Given the description of an element on the screen output the (x, y) to click on. 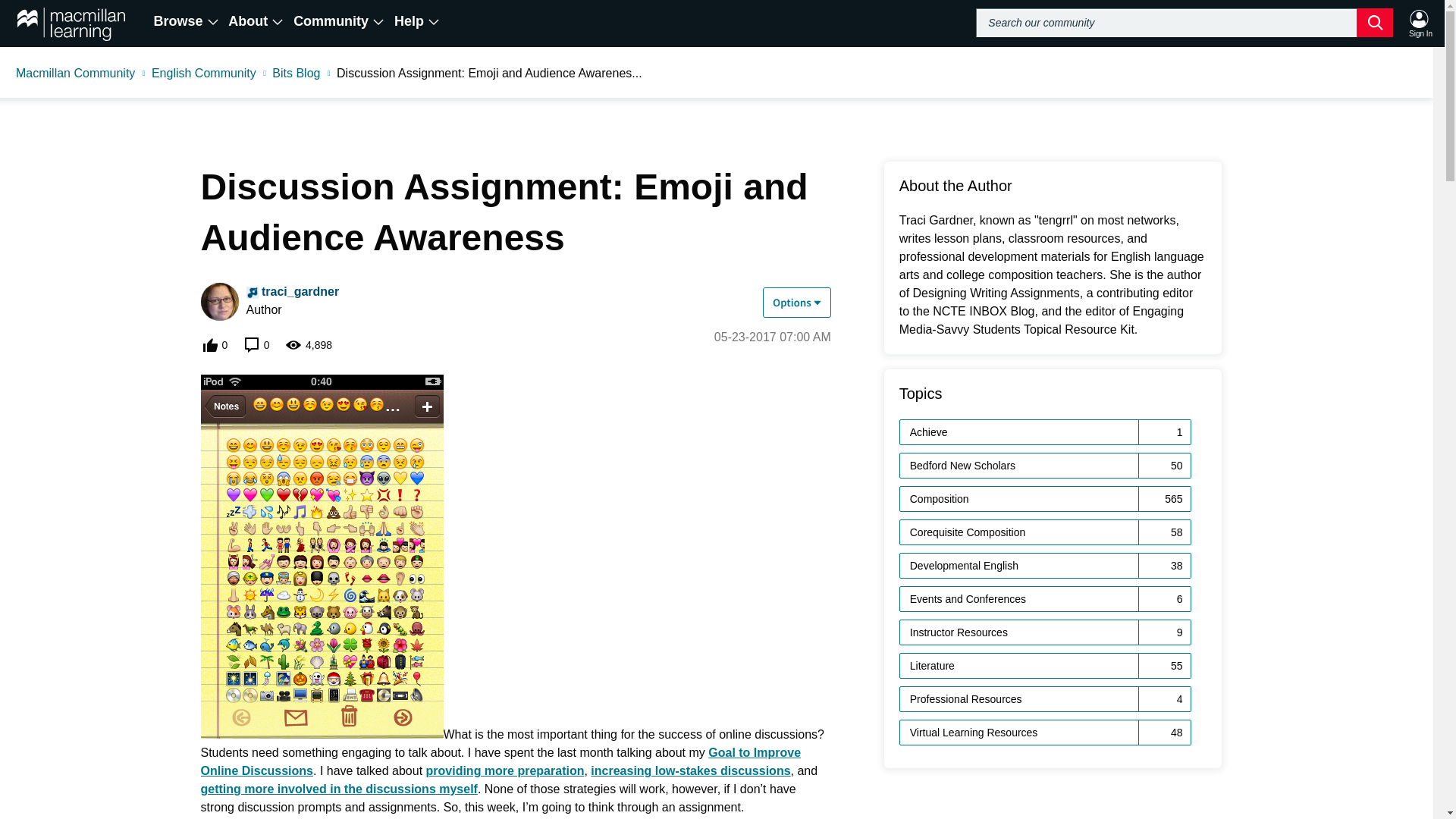
Author (251, 292)
Browse (186, 21)
Search (1184, 22)
Posted on (772, 337)
Show option menu (796, 302)
About (255, 21)
